Given the description of an element on the screen output the (x, y) to click on. 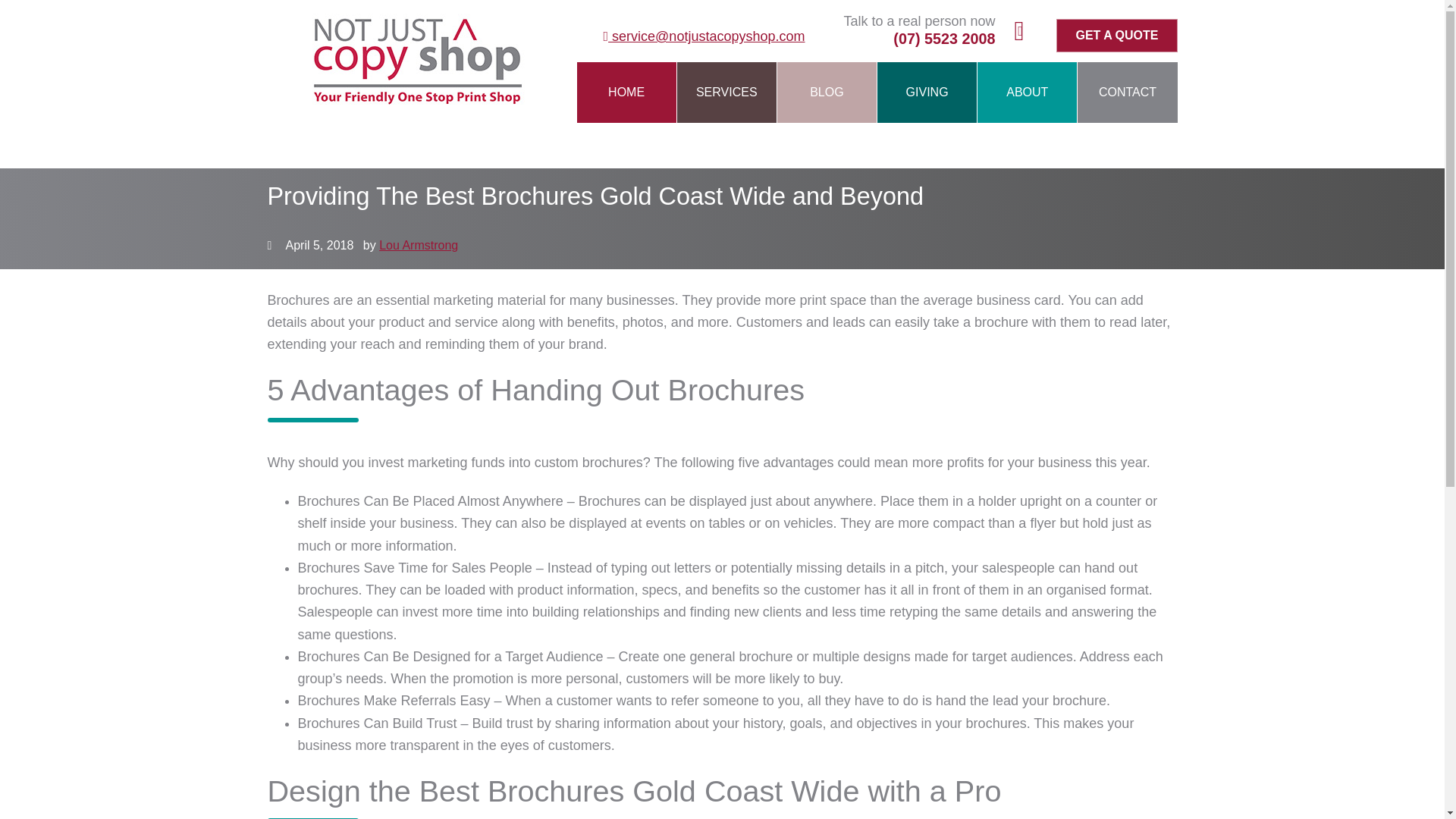
HOME (625, 92)
SERVICES (726, 92)
Not Just a Copy Shop (419, 99)
GET A QUOTE (1116, 35)
